Given the description of an element on the screen output the (x, y) to click on. 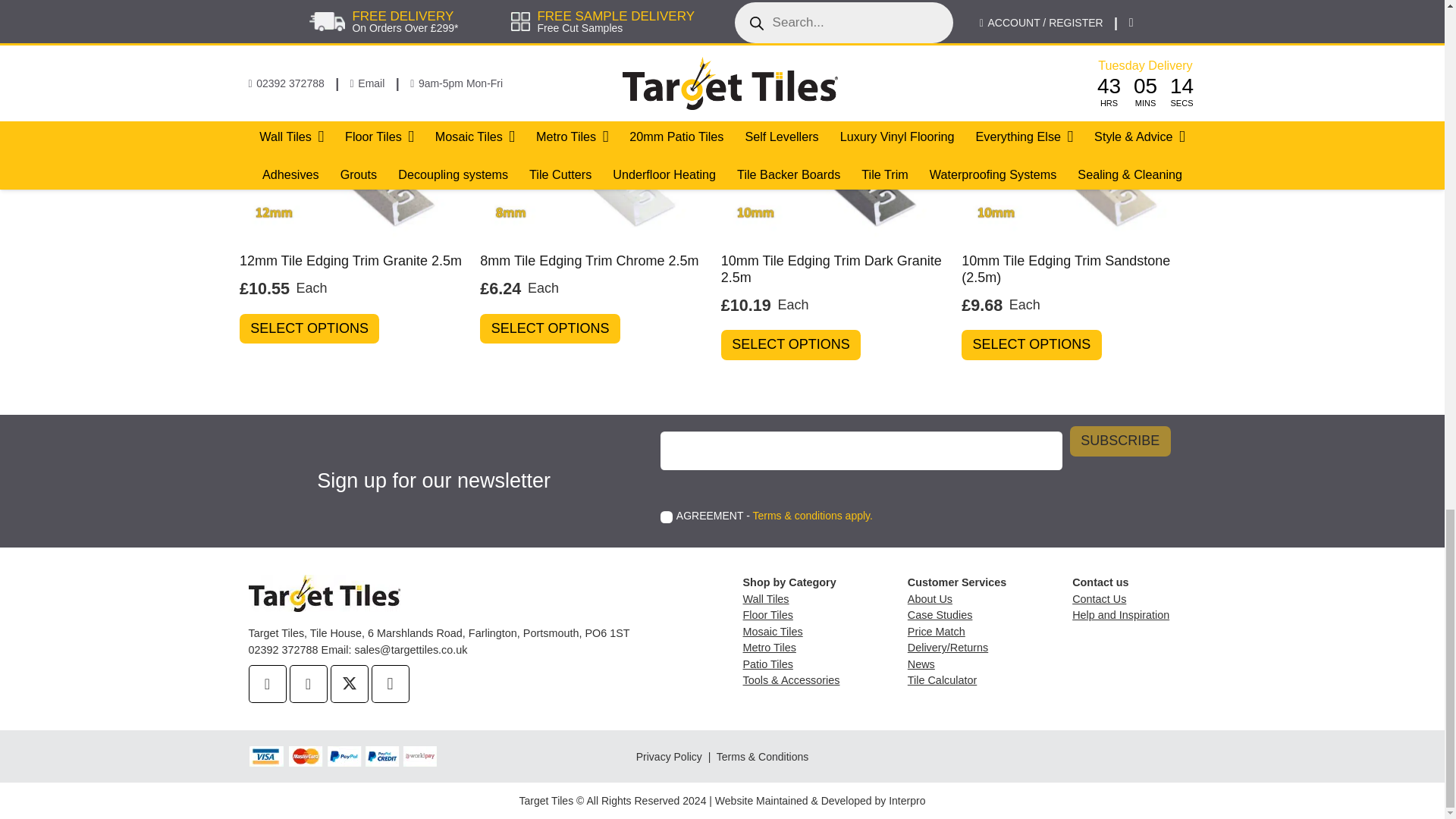
Instagram (390, 683)
Subscribe (1120, 440)
Twitter (349, 683)
Pinterest (308, 683)
1 (666, 517)
Facebook (267, 683)
